Given the description of an element on the screen output the (x, y) to click on. 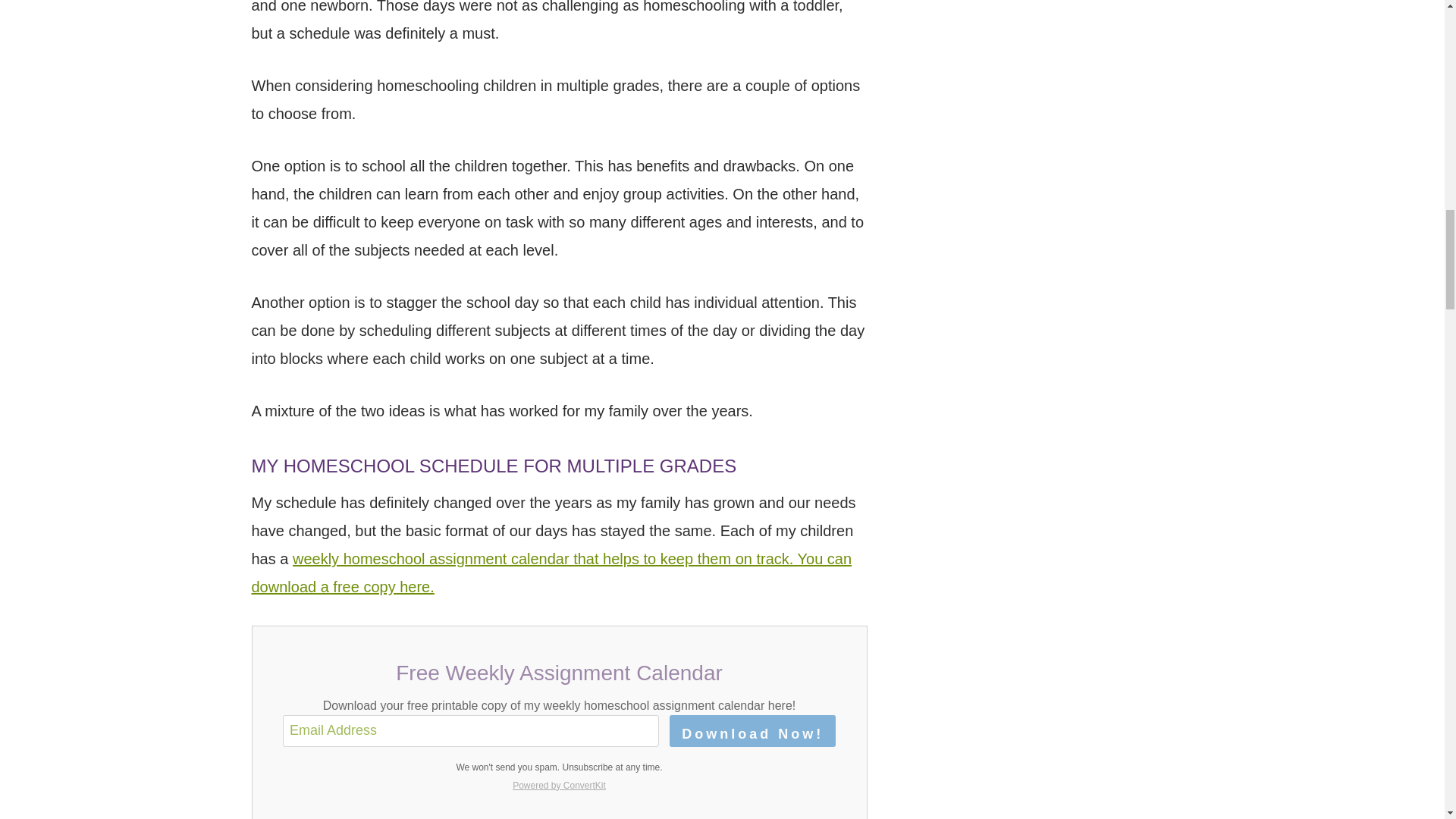
Powered by ConvertKit (558, 785)
Download Now! (752, 730)
